Given the description of an element on the screen output the (x, y) to click on. 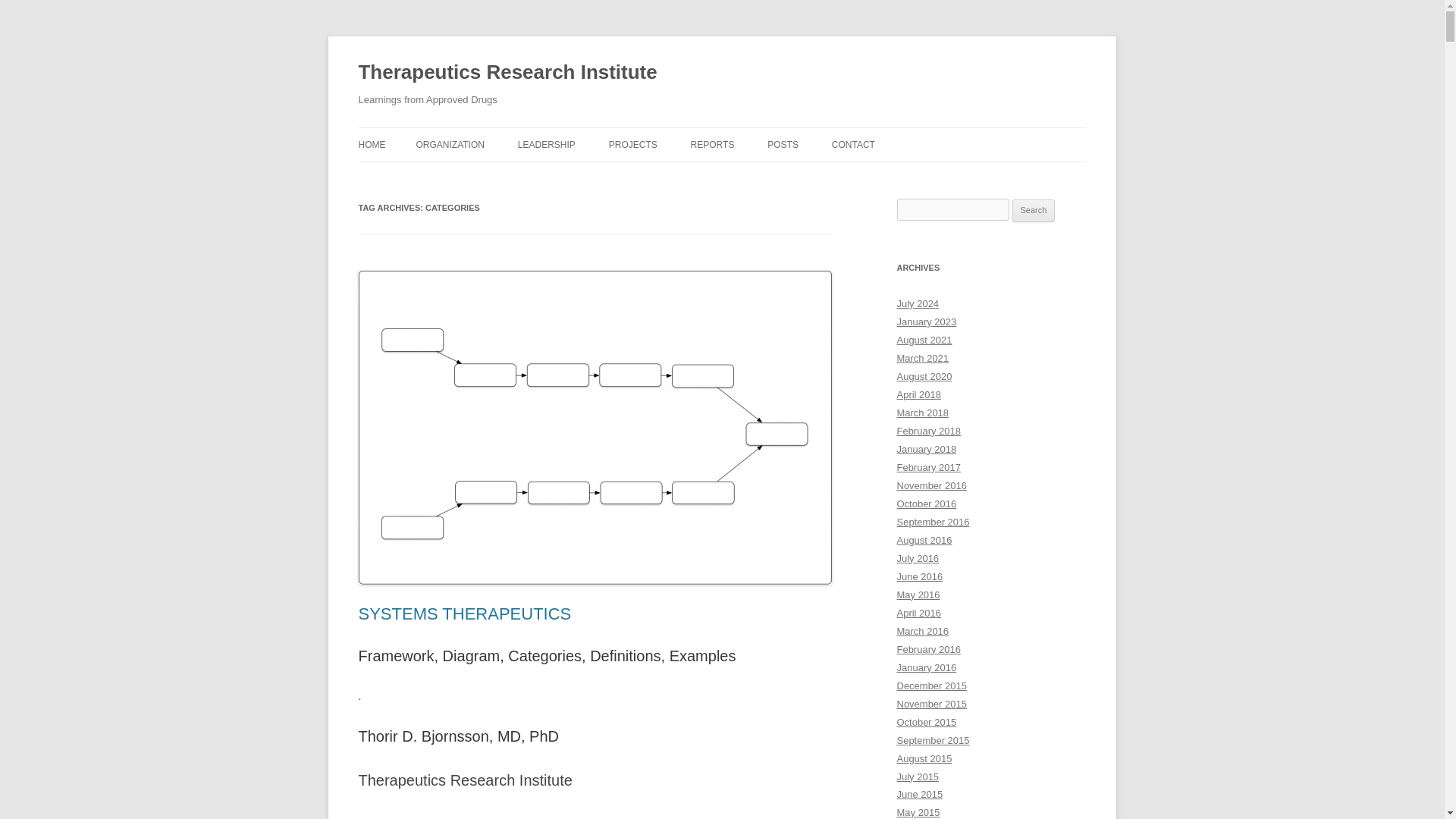
POSTS (782, 144)
PROJECTS (633, 144)
ORGANIZATION (448, 144)
REPORTS (712, 144)
CONTACT (853, 144)
SYSTEMS THERAPEUTICS (464, 613)
Therapeutics Research Institute (507, 72)
Search (1033, 210)
LEADERSHIP (546, 144)
